Given the description of an element on the screen output the (x, y) to click on. 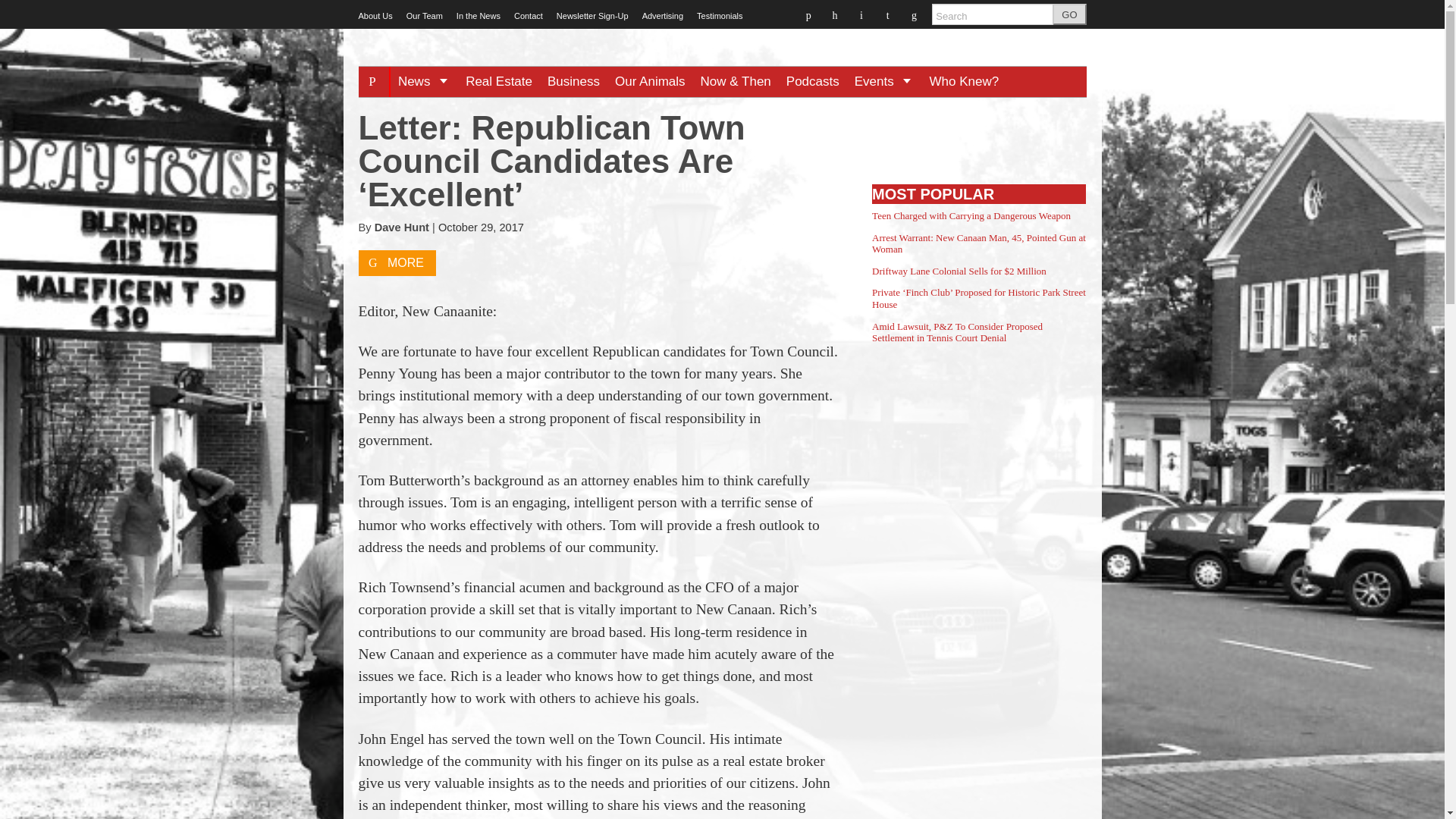
GO (1069, 14)
About Us (374, 15)
Advertising (662, 15)
Our Team (424, 15)
Newsletter Sign-Up (592, 15)
In the News (478, 15)
Contact (528, 15)
Testimonials (719, 15)
